Given the description of an element on the screen output the (x, y) to click on. 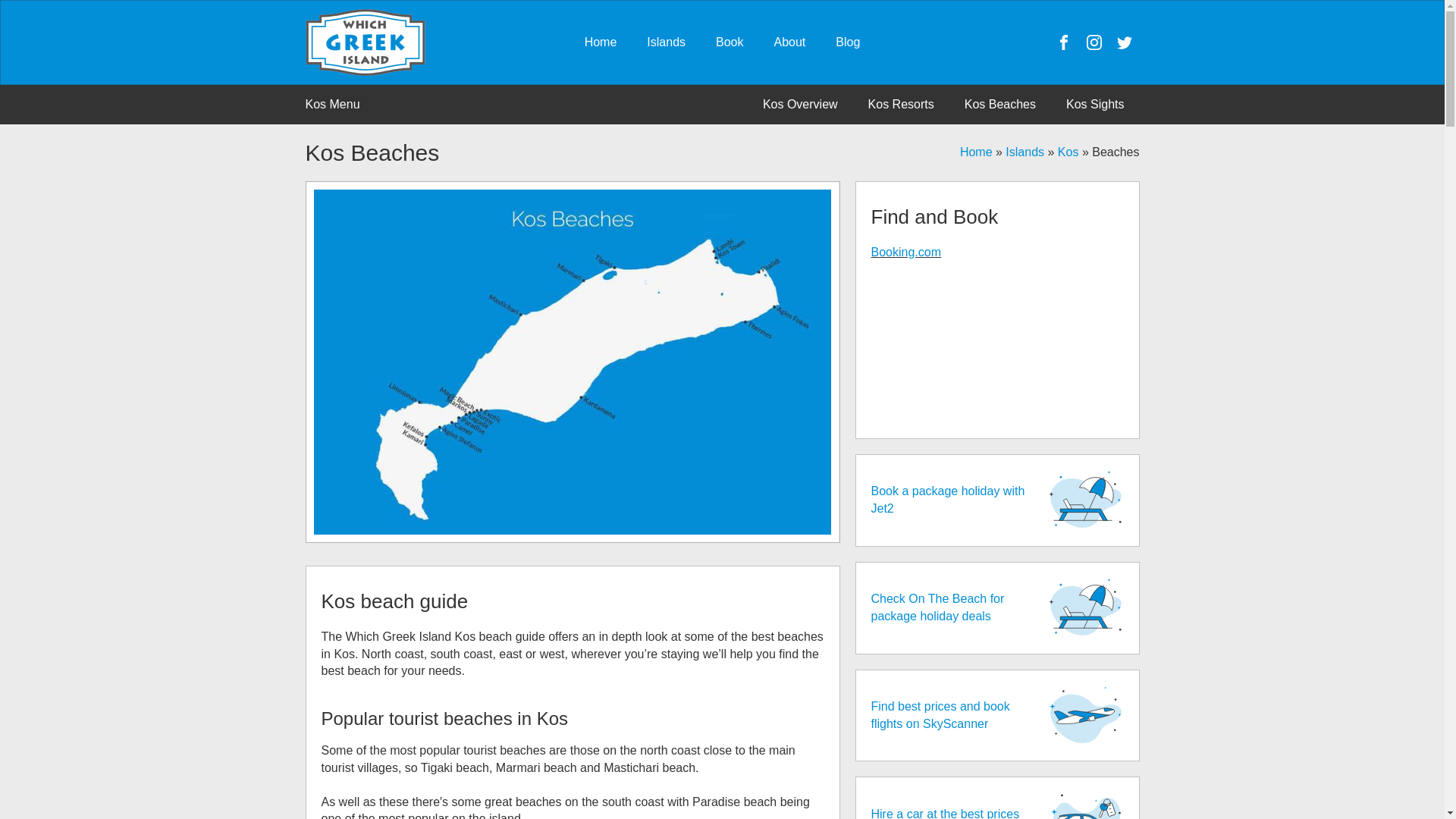
Kos (1068, 151)
Kos Overview (800, 104)
Islands (1024, 151)
Home (975, 151)
Islands (665, 42)
Kos Sights (1094, 104)
About (789, 42)
Kos Resorts (901, 104)
Home (600, 42)
Kos Beaches (1000, 104)
Blog (848, 42)
Book (729, 42)
